Given the description of an element on the screen output the (x, y) to click on. 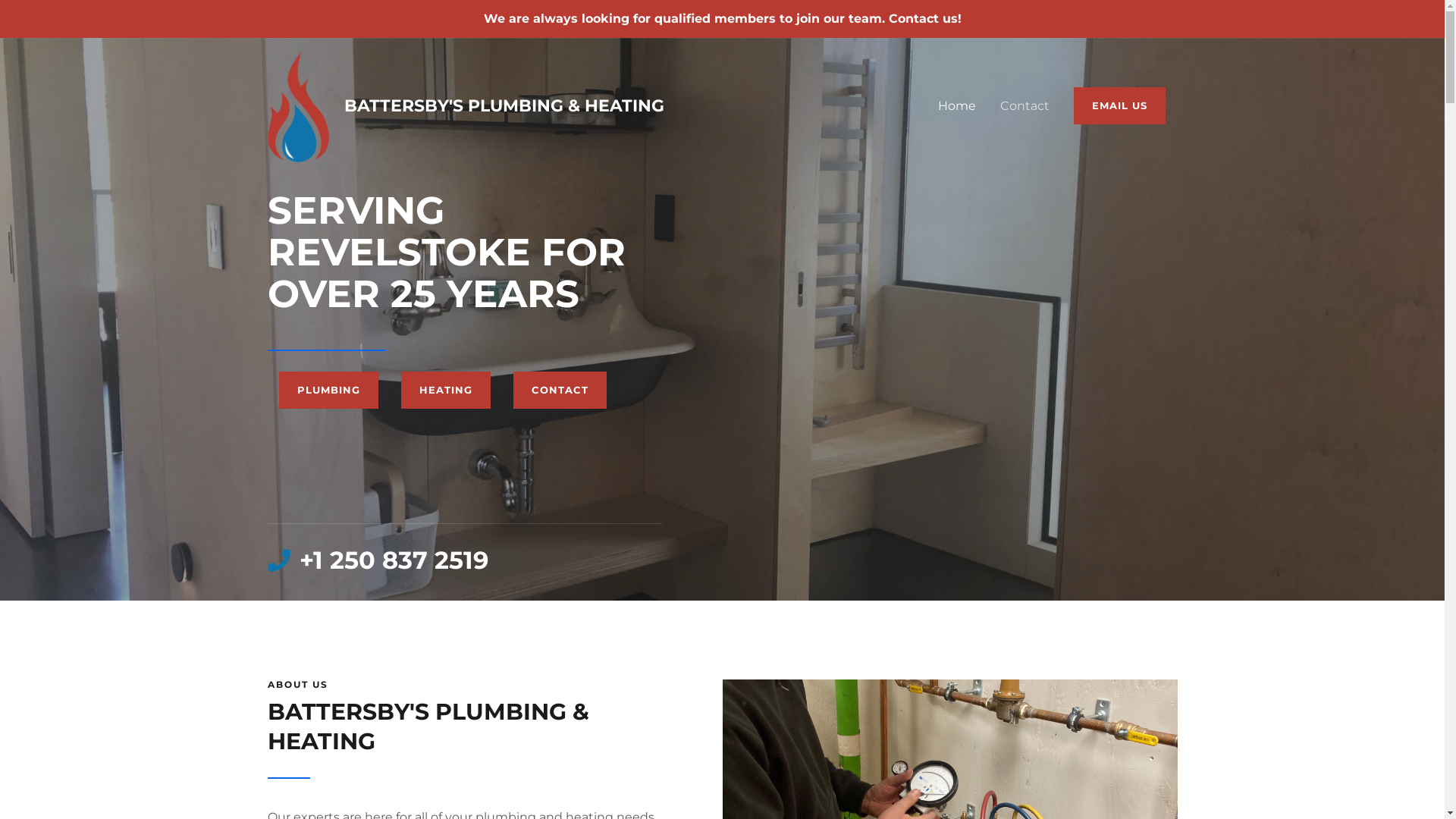
HEATING Element type: text (444, 389)
BATTERSBY'S PLUMBING & HEATING Element type: text (504, 105)
CONTACT Element type: text (558, 389)
EMAIL US Element type: text (1119, 105)
Contact us! Element type: text (924, 18)
Contact Element type: text (1023, 105)
PLUMBING Element type: text (328, 389)
Home Element type: text (956, 105)
